Given the description of an element on the screen output the (x, y) to click on. 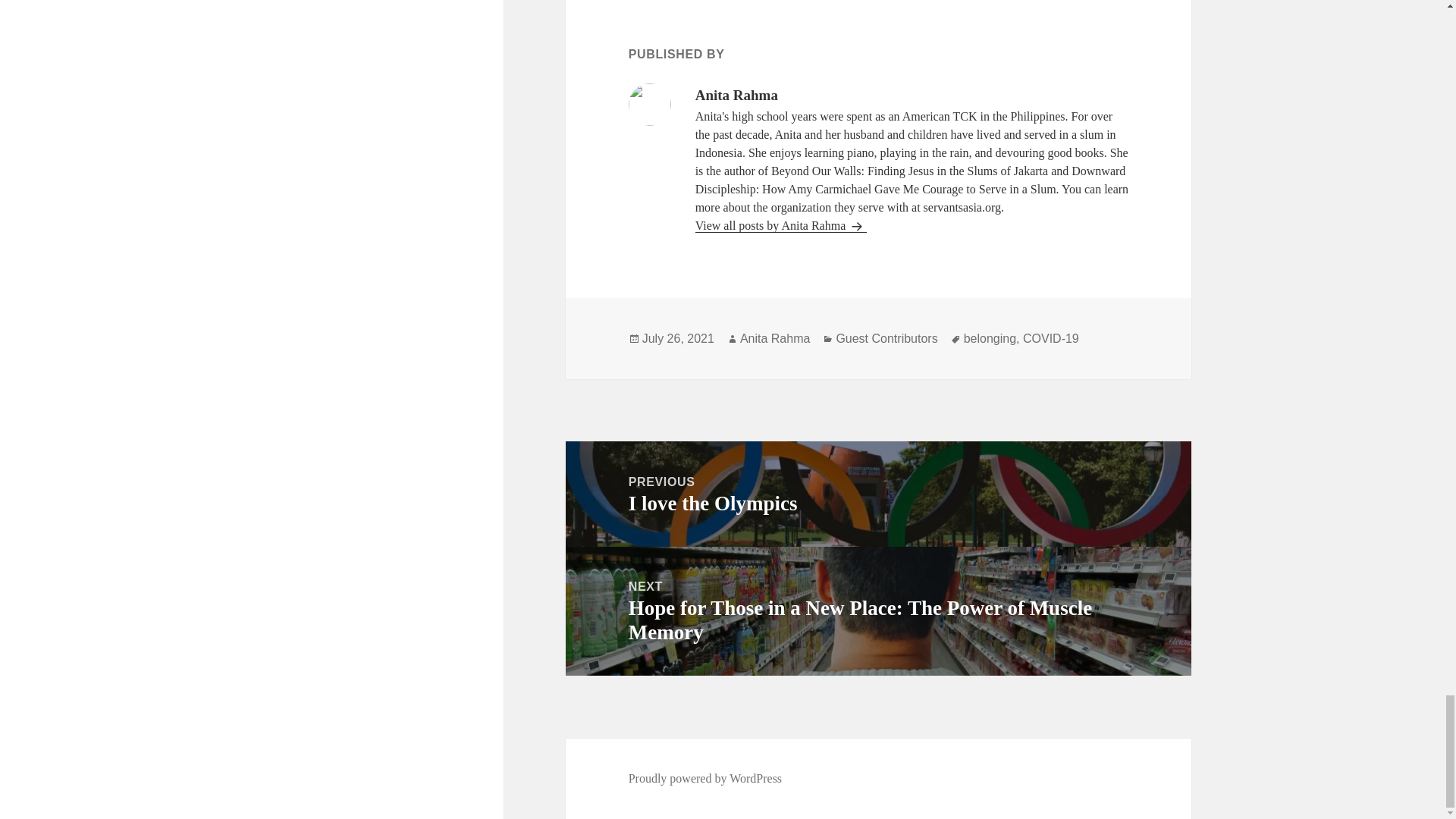
View all posts by Anita Rahma (878, 494)
COVID-19 (781, 225)
July 26, 2021 (1050, 338)
Guest Contributors (678, 338)
Anita Rahma (886, 338)
belonging (774, 338)
Proudly powered by WordPress (989, 338)
